Given the description of an element on the screen output the (x, y) to click on. 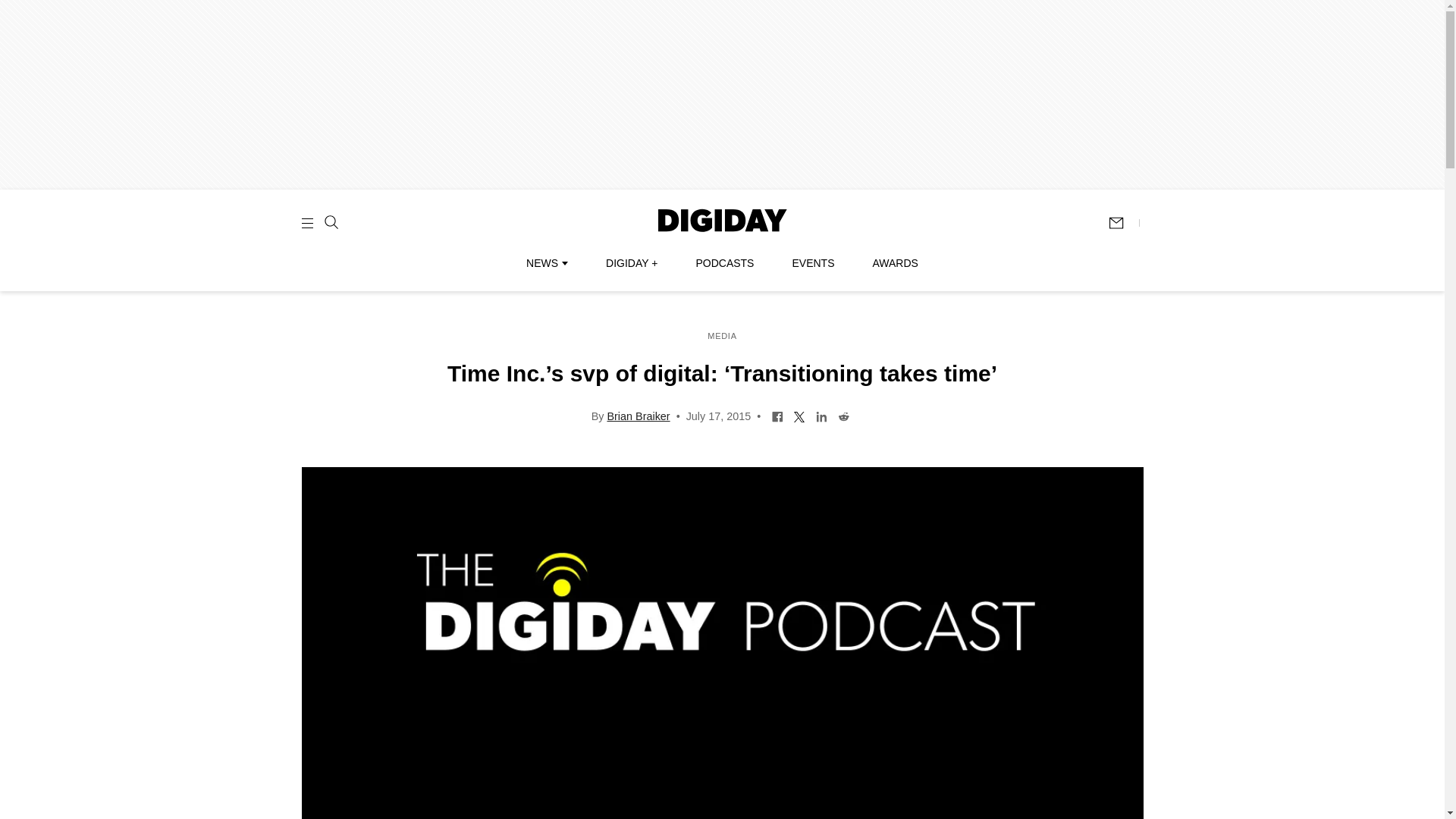
Share on Facebook (777, 415)
PODCASTS (725, 262)
Share on Reddit (843, 415)
Share on LinkedIn (821, 415)
AWARDS (894, 262)
Subscribe (1123, 223)
NEWS (546, 262)
EVENTS (813, 262)
Share on Twitter (799, 415)
